Given the description of an element on the screen output the (x, y) to click on. 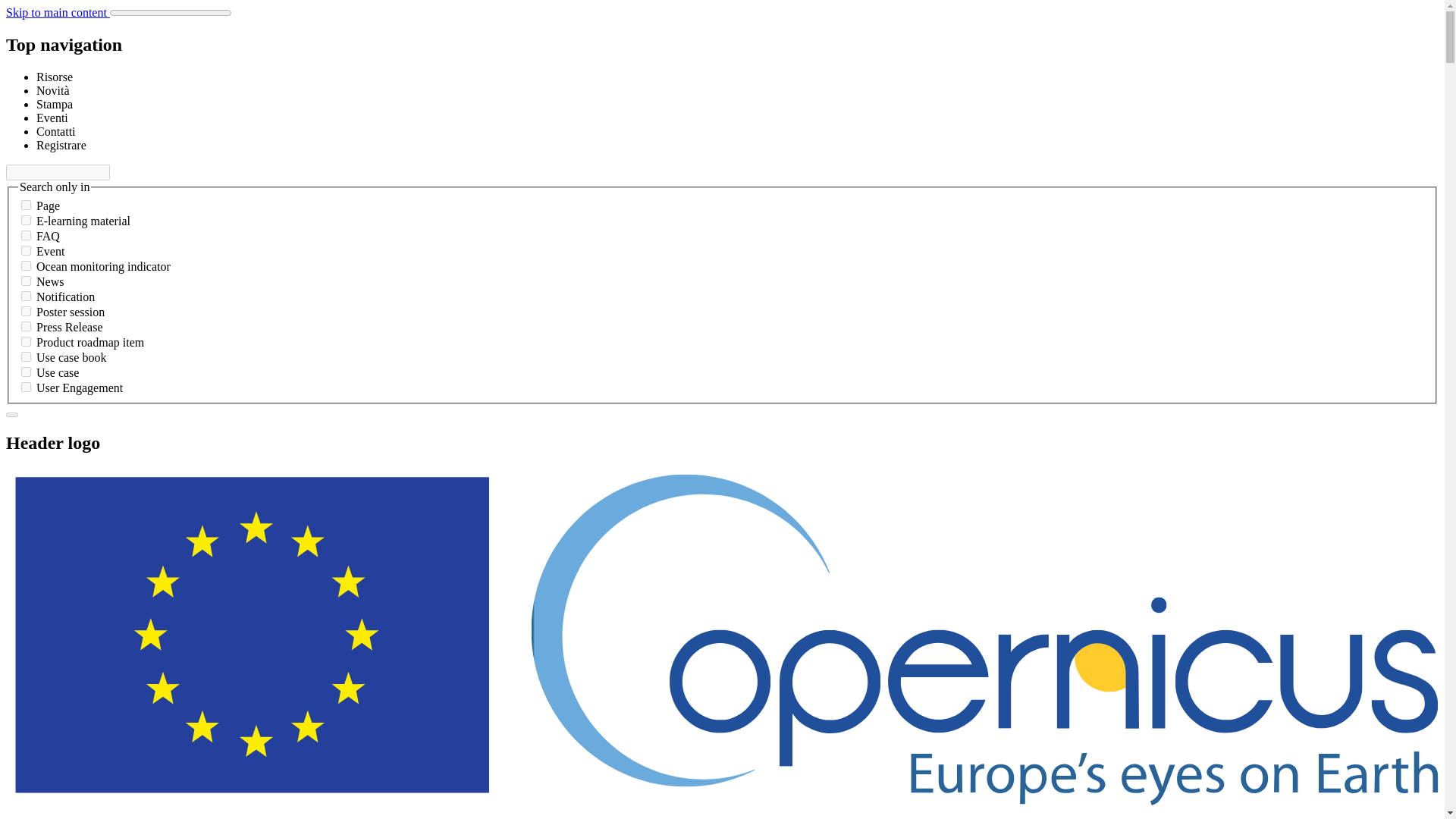
faq (25, 235)
Search (11, 414)
Skip to main content (57, 11)
Events and trainings (52, 117)
page (25, 204)
